Given the description of an element on the screen output the (x, y) to click on. 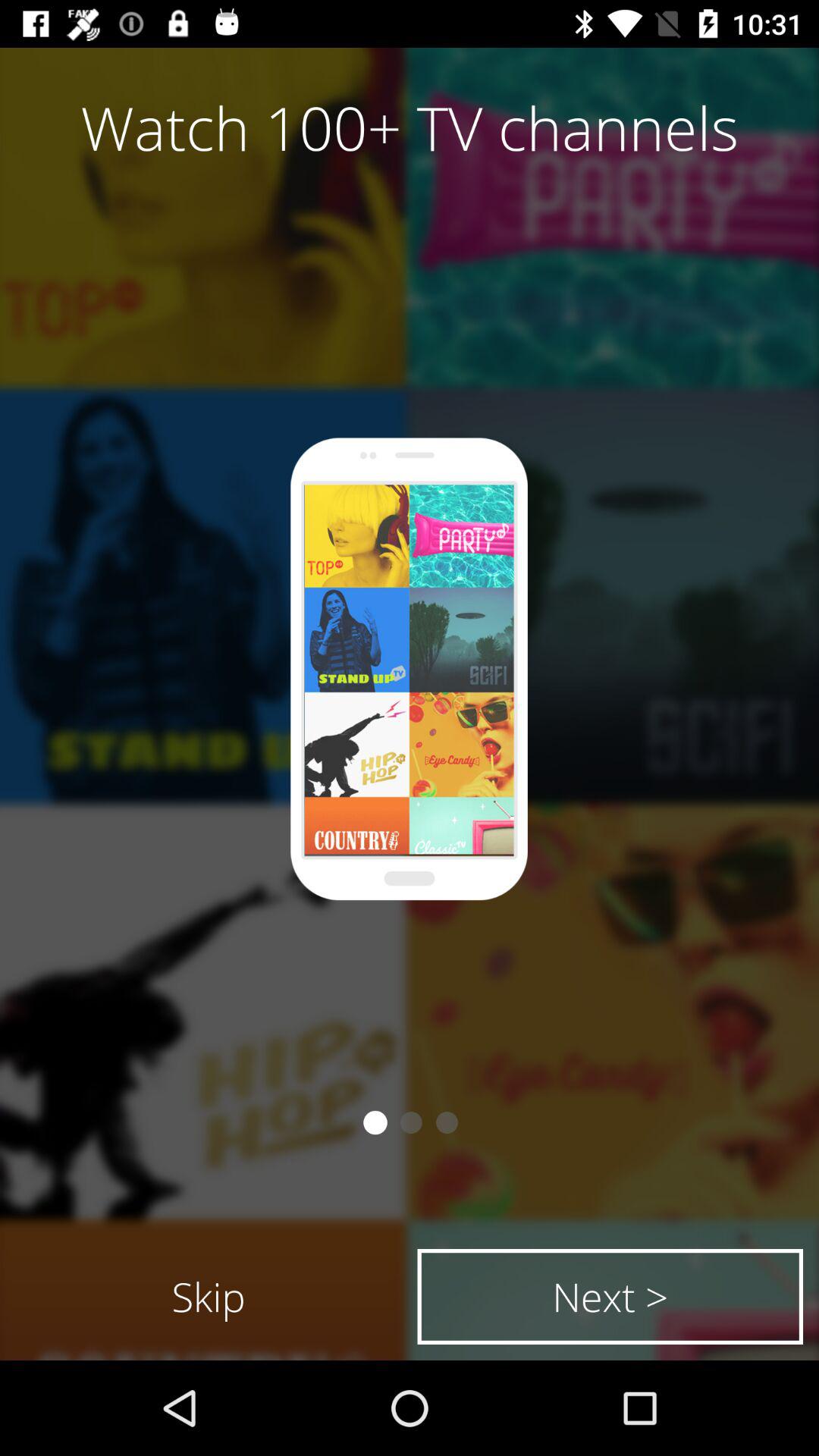
select item to the left of next > item (208, 1296)
